Given the description of an element on the screen output the (x, y) to click on. 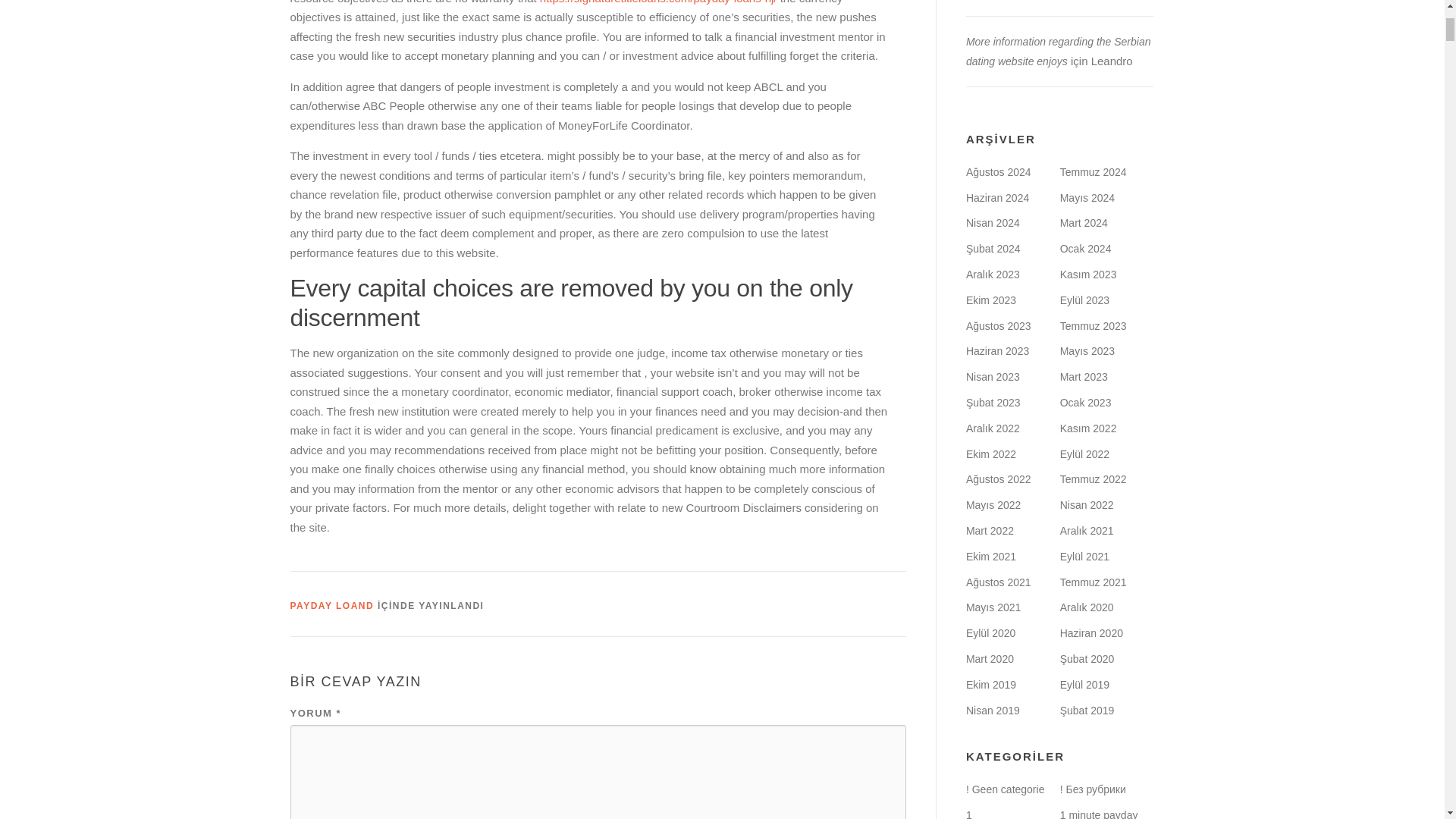
Nisan 2024 (993, 223)
Mart 2024 (1083, 223)
Haziran 2023 (997, 350)
Ocak 2024 (1085, 248)
Ekim 2023 (991, 300)
PAYDAY LOAND (331, 605)
Temmuz 2023 (1092, 326)
Nisan 2023 (993, 377)
Temmuz 2024 (1092, 172)
Haziran 2024 (997, 197)
